Given the description of an element on the screen output the (x, y) to click on. 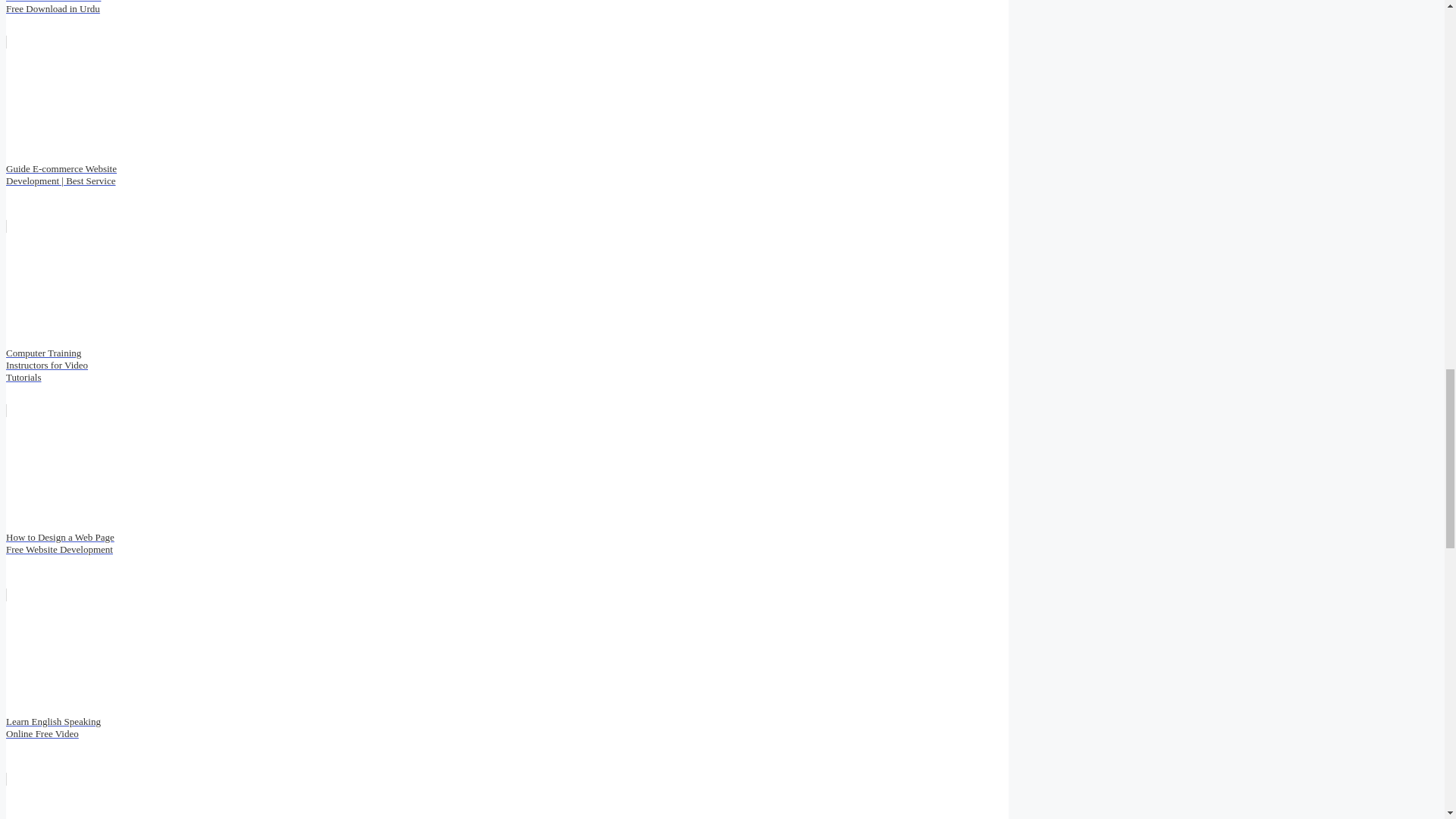
computer science course online free in Pakistan (507, 796)
